Given the description of an element on the screen output the (x, y) to click on. 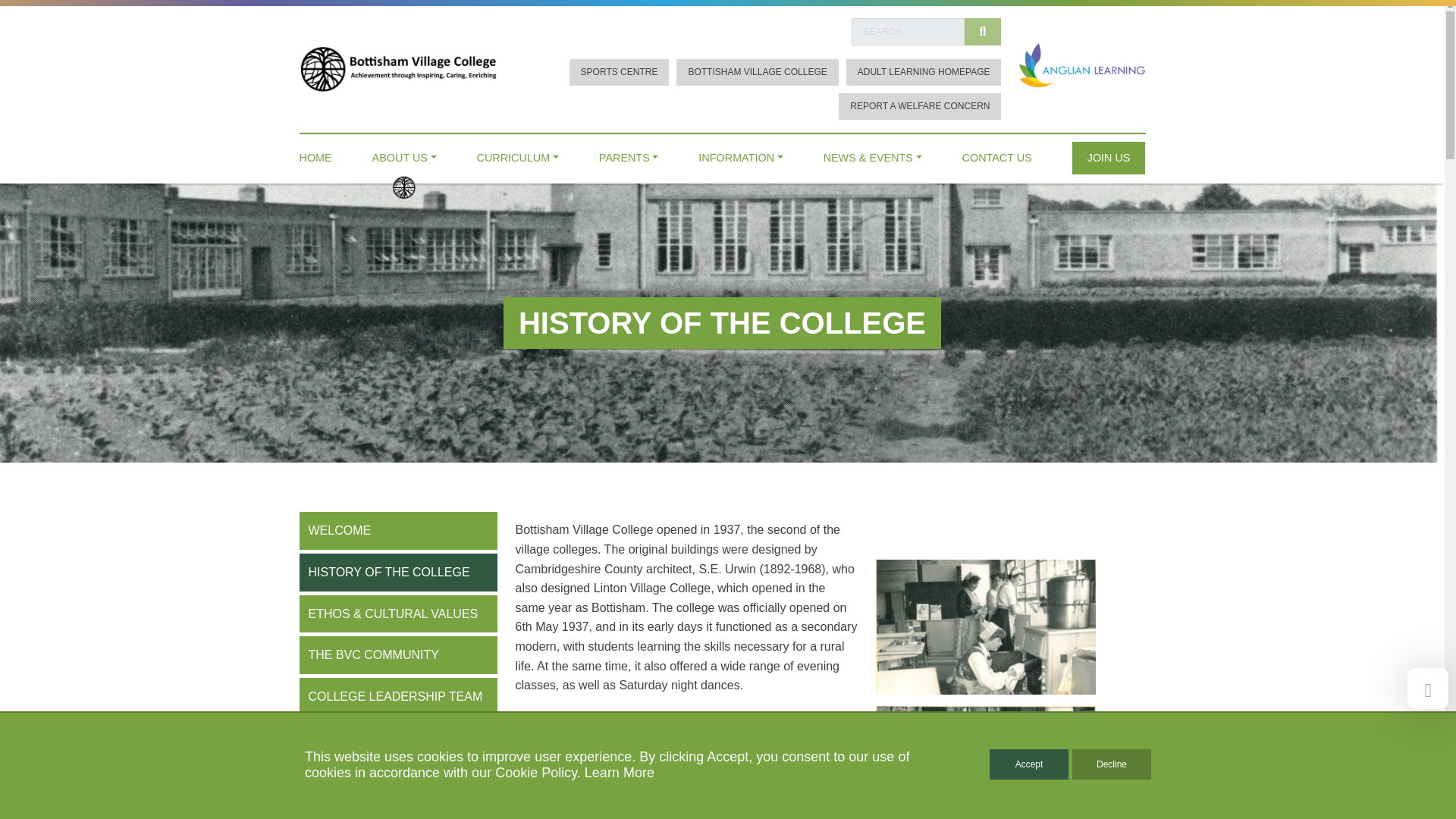
CURRICULUM (518, 154)
BOTTISHAM VILLAGE COLLEGE (757, 71)
ADULT LEARNING HOMEPAGE (923, 71)
SPORTS CENTRE (619, 71)
ABOUT US (404, 154)
HOME (314, 154)
REPORT A WELFARE CONCERN (919, 106)
Anglian Learning (1081, 64)
PARENTS (628, 154)
